Given the description of an element on the screen output the (x, y) to click on. 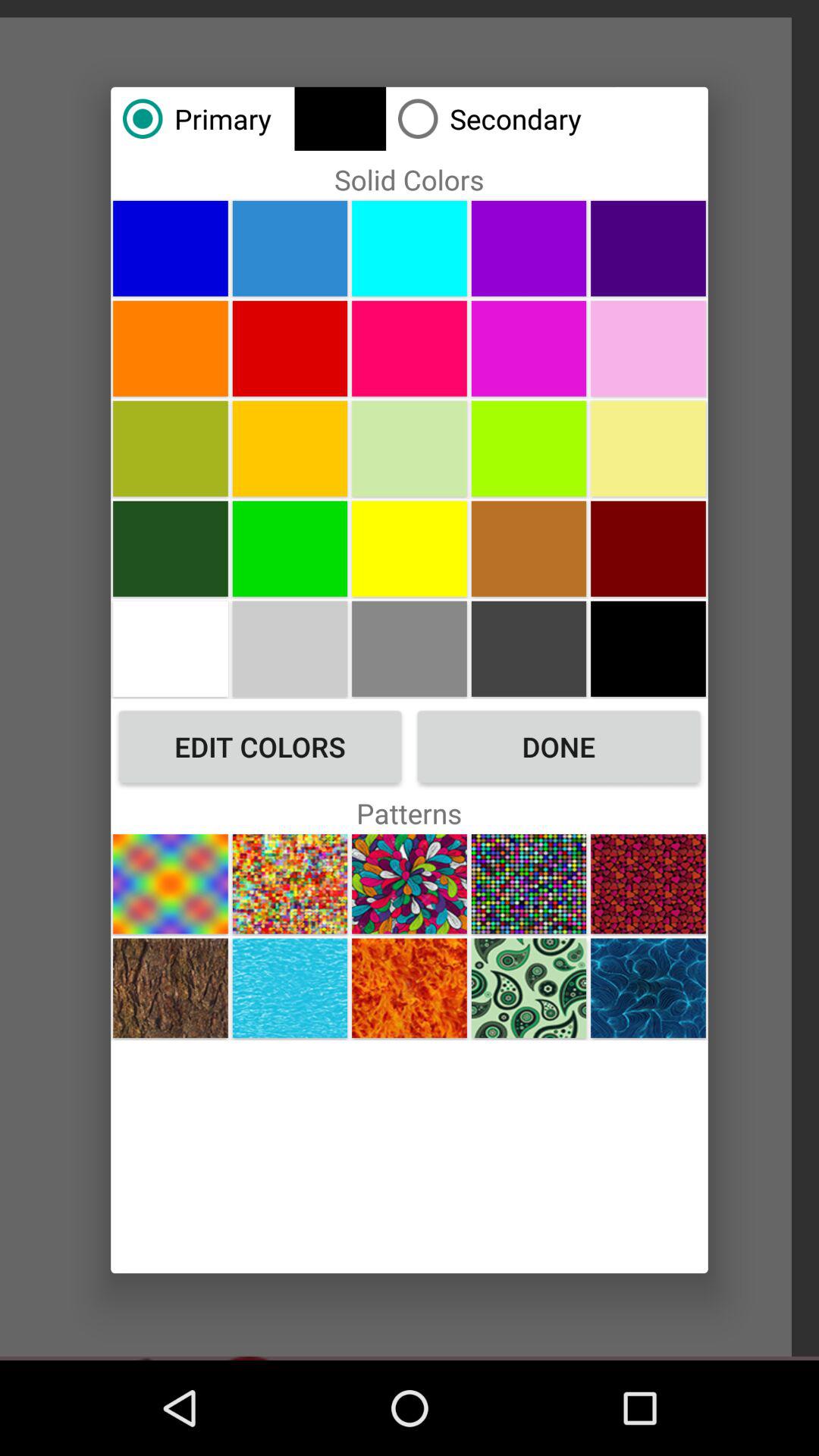
select this color (289, 448)
